Given the description of an element on the screen output the (x, y) to click on. 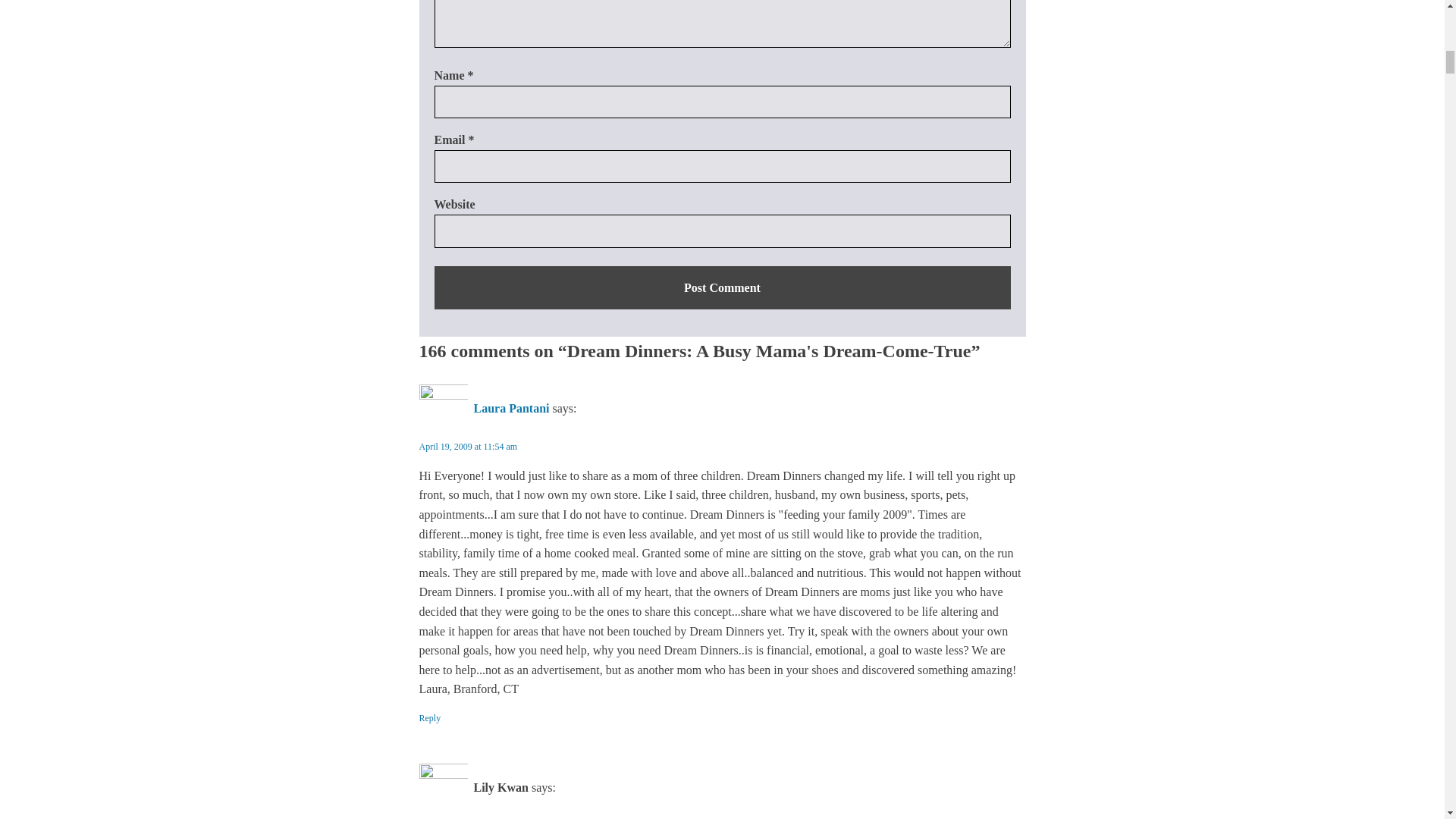
Post Comment (721, 288)
Post Comment (721, 288)
Laura Pantani (510, 408)
Reply (430, 718)
April 19, 2009 at 11:54 am (467, 446)
